Given the description of an element on the screen output the (x, y) to click on. 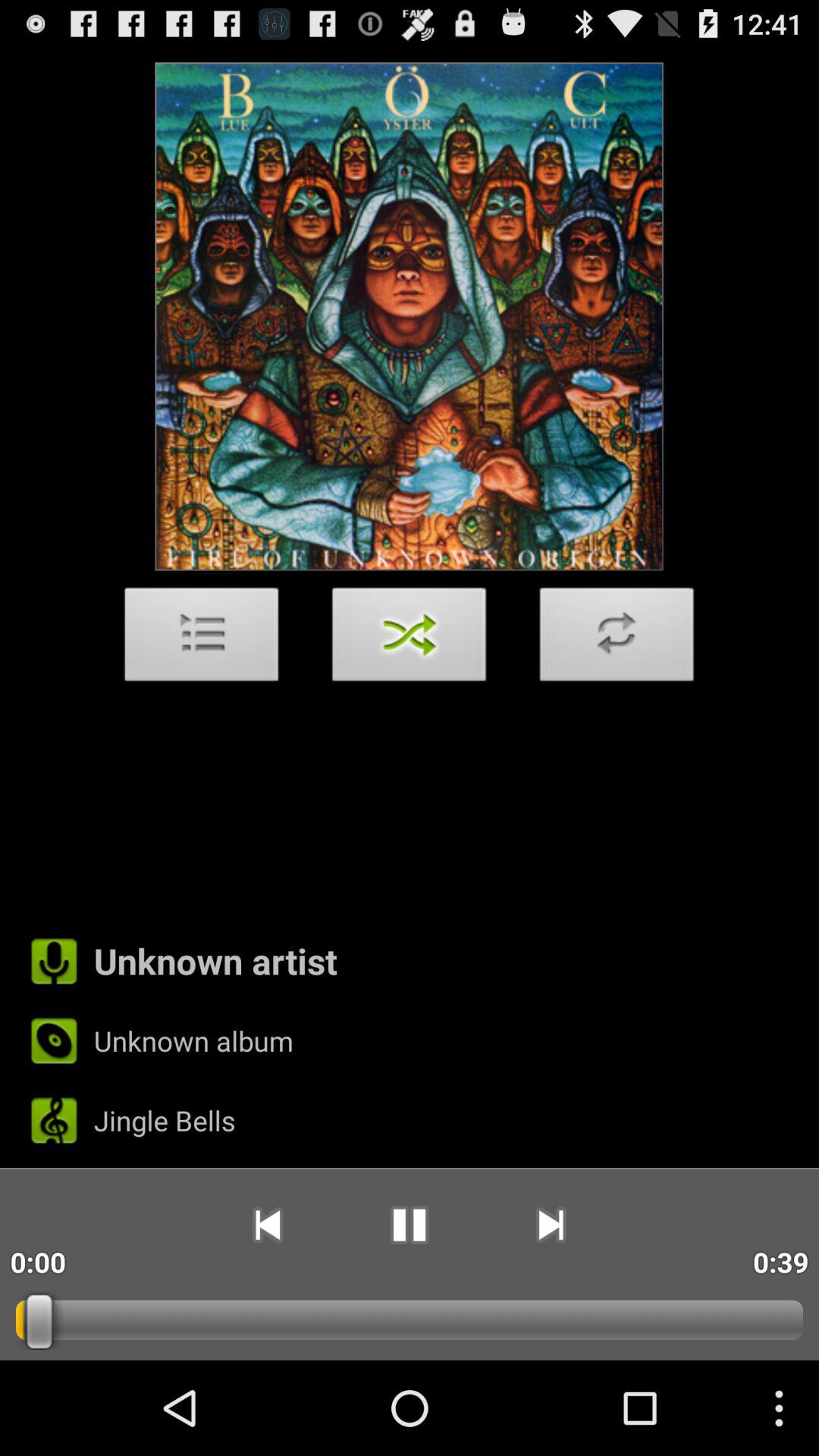
choose app above the unknown artist icon (616, 638)
